Given the description of an element on the screen output the (x, y) to click on. 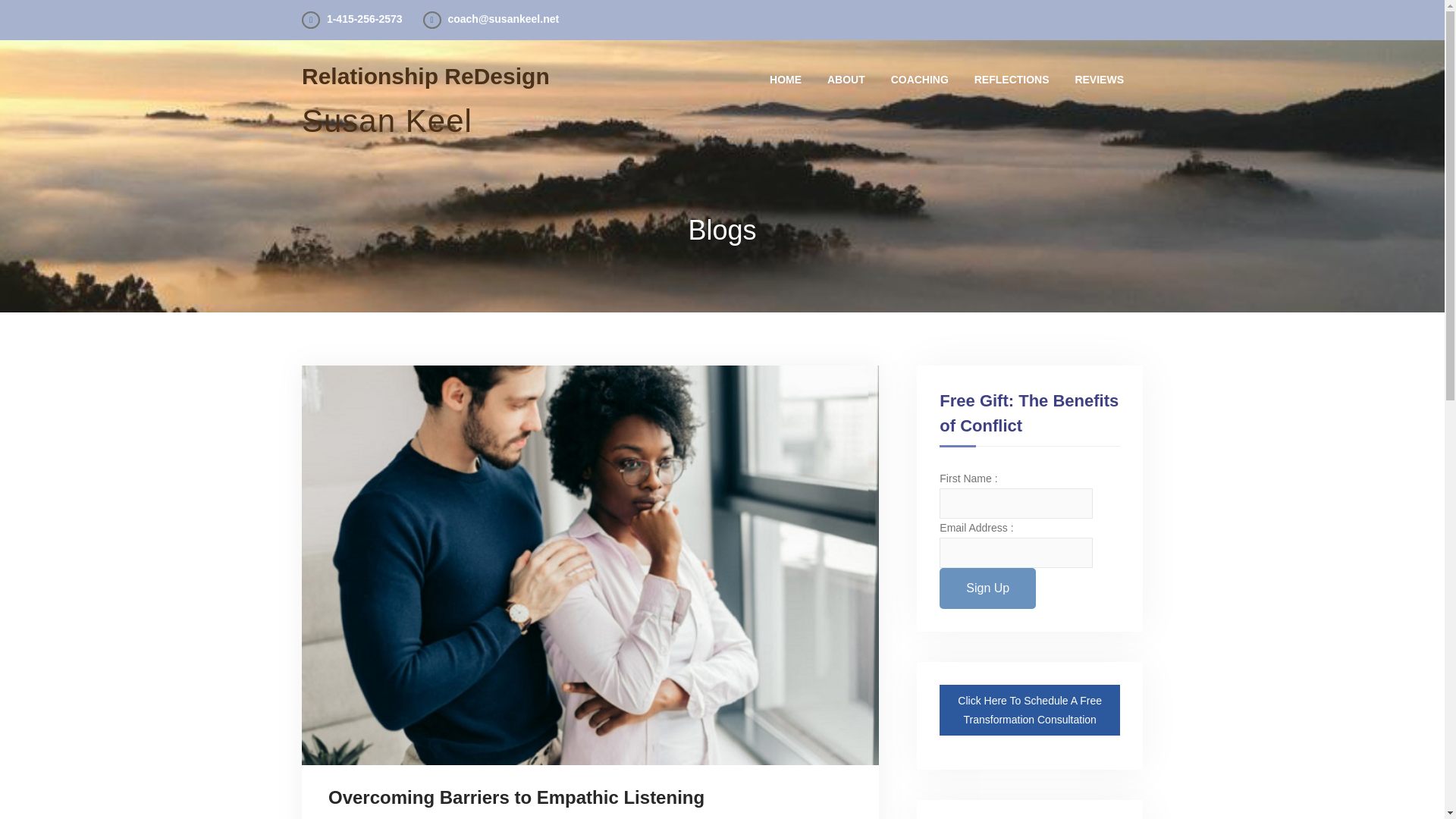
Sign Up (987, 588)
Reflections (1011, 79)
HOME (785, 79)
ABOUT (846, 79)
COACHING (919, 79)
REFLECTIONS (1011, 79)
Click Here To Schedule A Free Transformation Consultation (1029, 709)
Sign Up (987, 588)
REVIEWS (1098, 79)
Relationship ReDesign (425, 75)
Overcoming Barriers to Empathic Listening (516, 797)
